Given the description of an element on the screen output the (x, y) to click on. 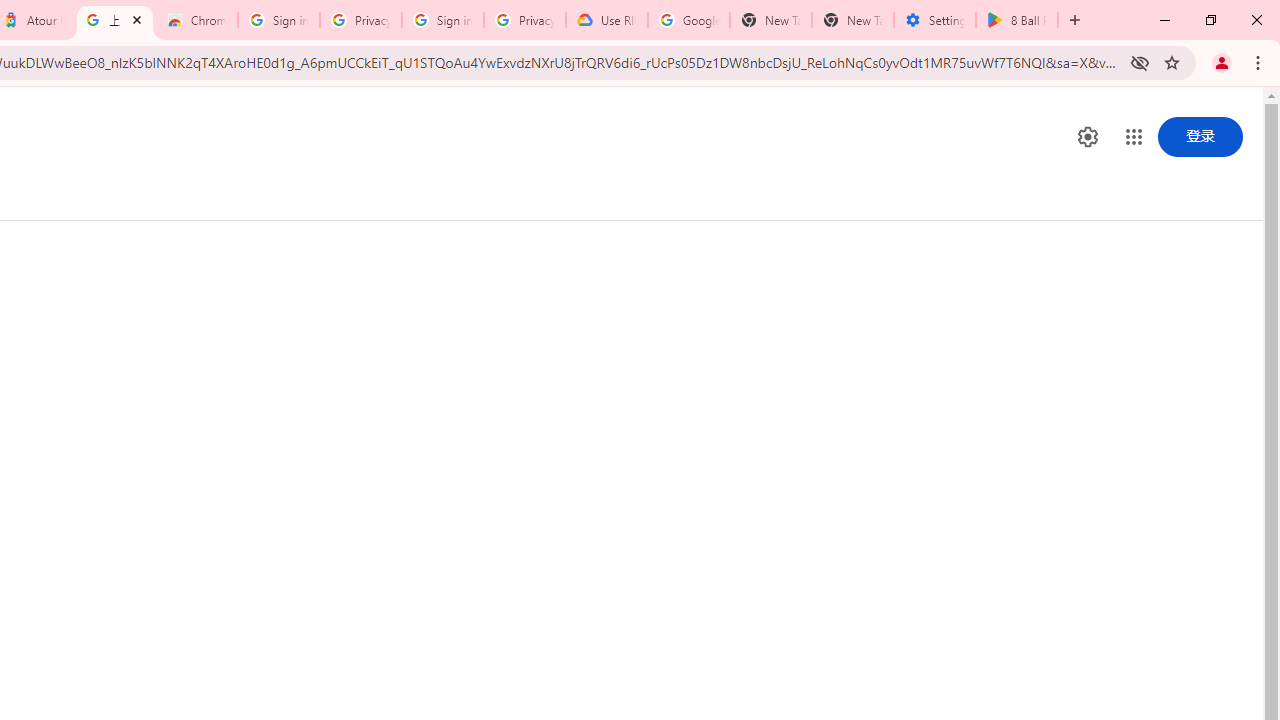
New Tab (852, 20)
Sign in - Google Accounts (442, 20)
Sign in - Google Accounts (278, 20)
Chrome Web Store - Color themes by Chrome (197, 20)
Settings - System (934, 20)
